Given the description of an element on the screen output the (x, y) to click on. 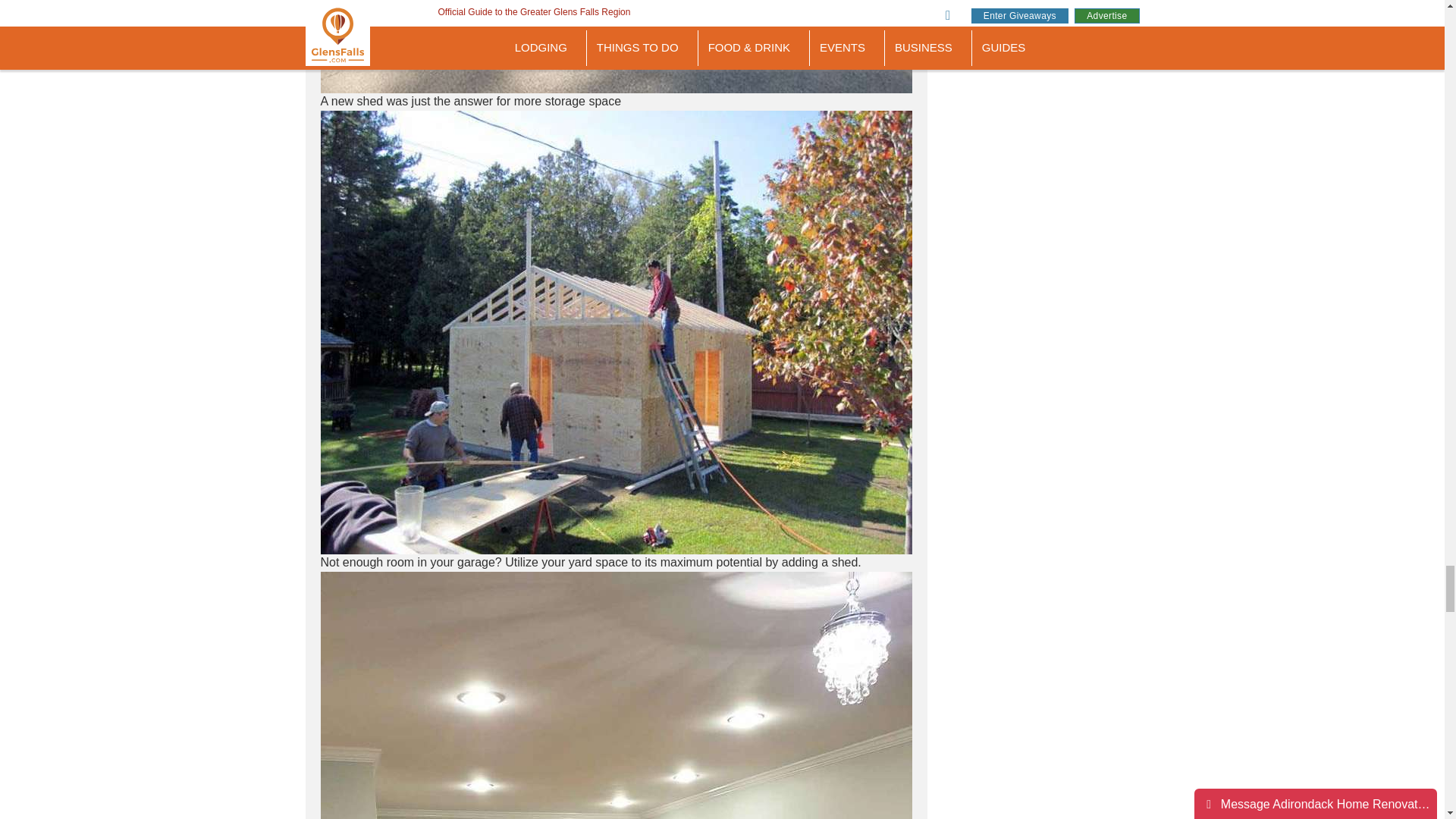
A new shed was just the answer for more storage space (615, 46)
